Given the description of an element on the screen output the (x, y) to click on. 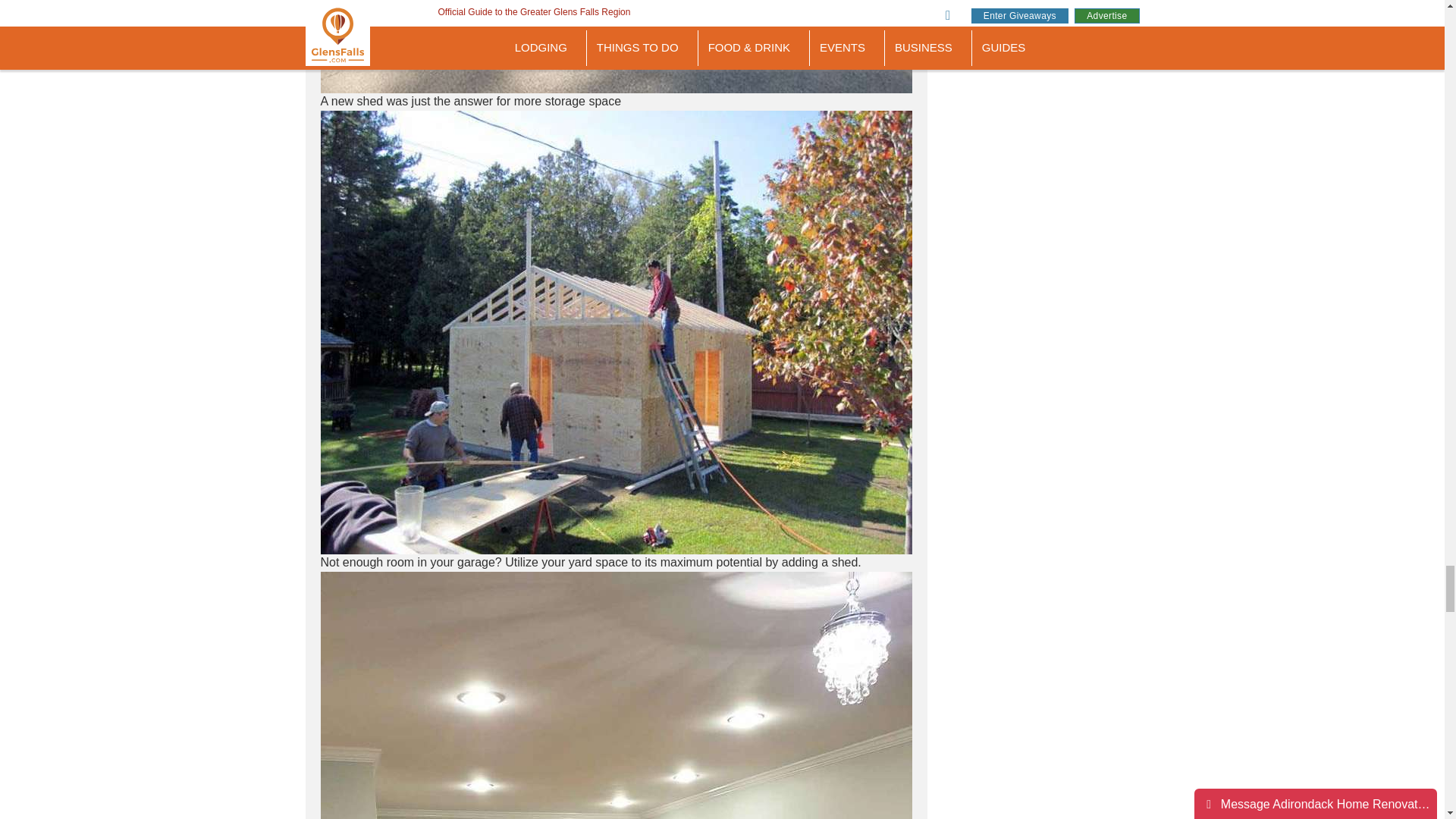
A new shed was just the answer for more storage space (615, 46)
